Given the description of an element on the screen output the (x, y) to click on. 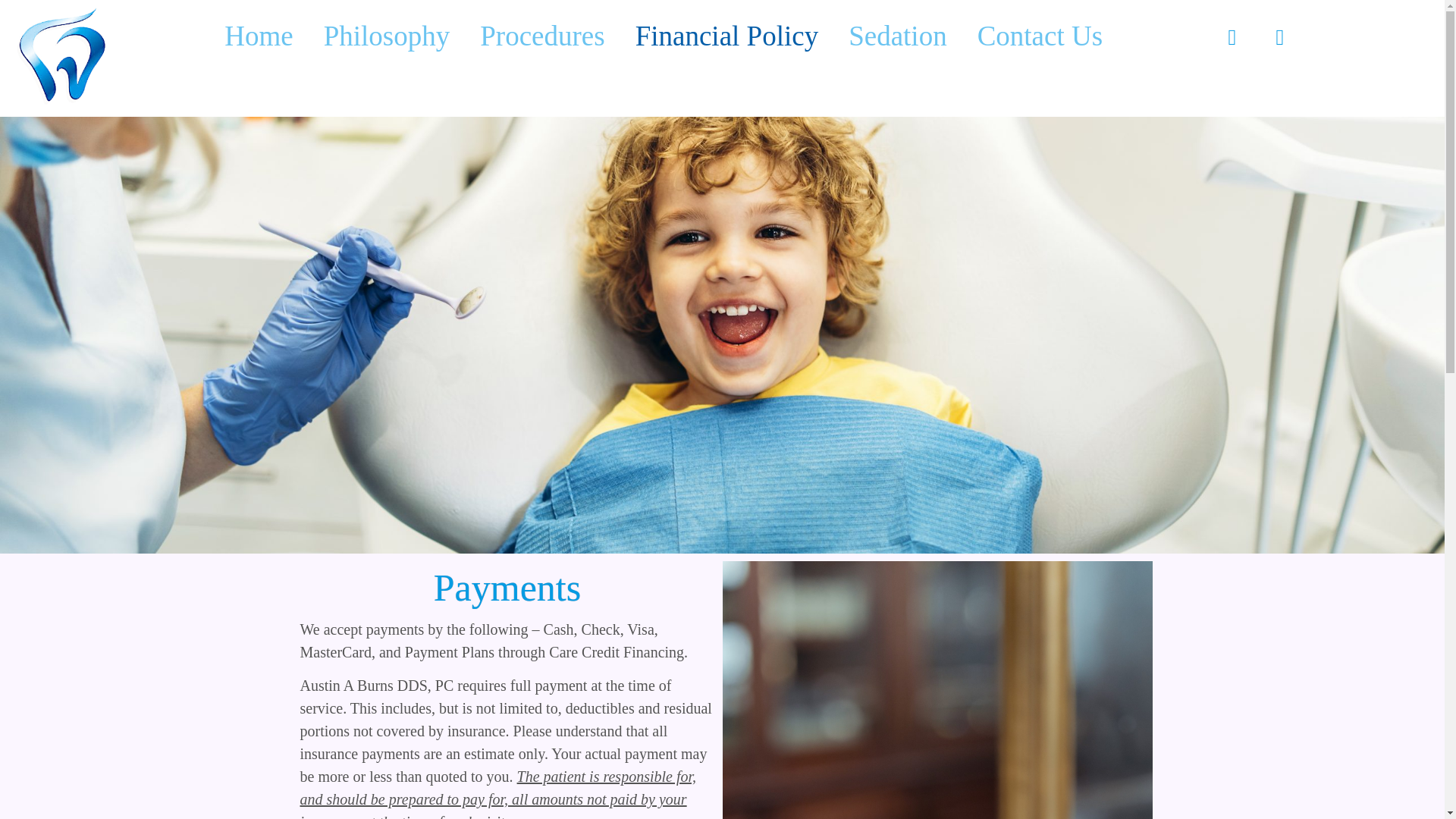
Procedures (542, 36)
Contact Us (1040, 36)
Home (258, 36)
Philosophy (386, 36)
Sedation (896, 36)
Financial Policy (727, 36)
